Given the description of an element on the screen output the (x, y) to click on. 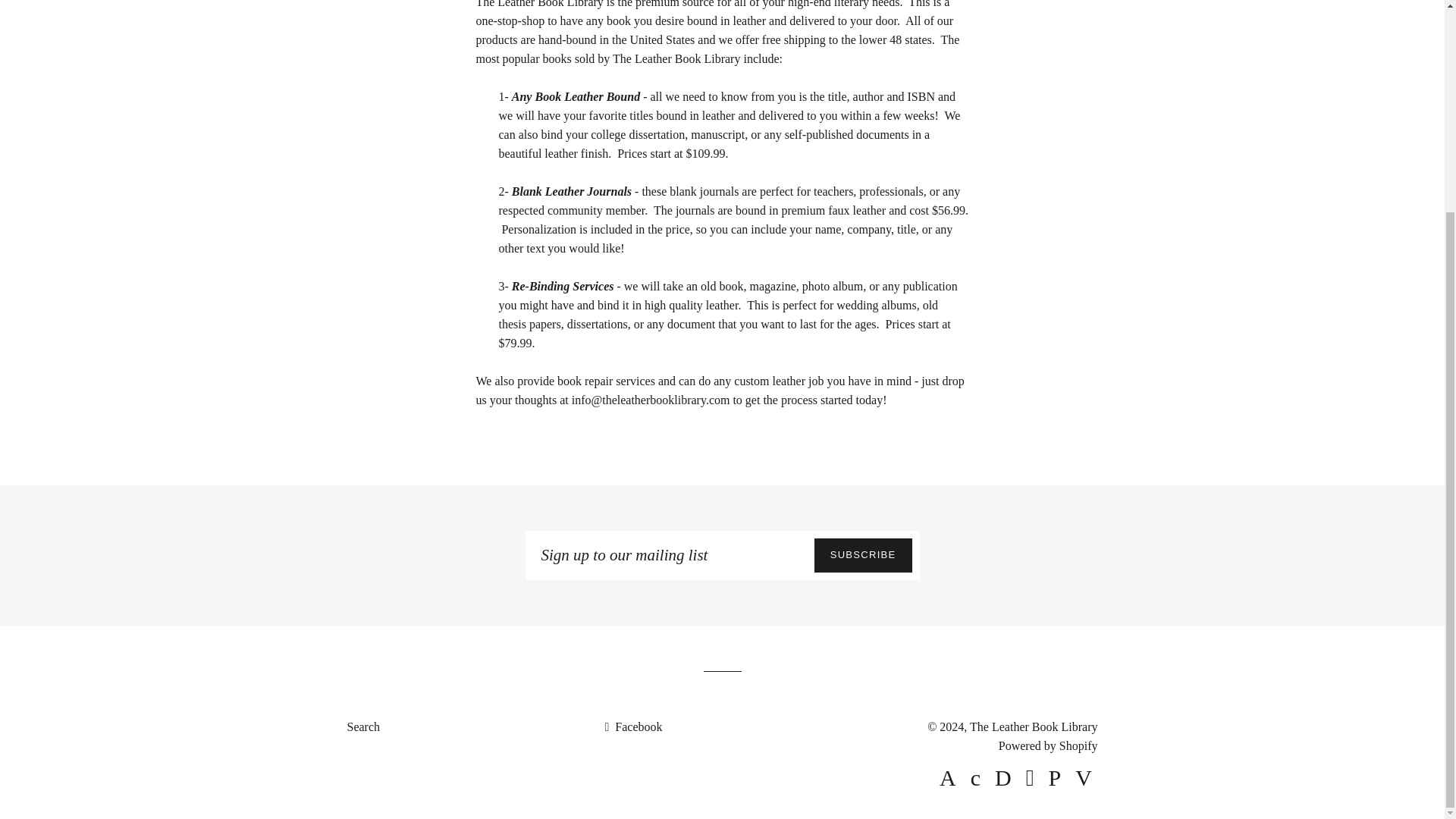
The Leather Book Library (1033, 726)
Search (363, 726)
The Leather Book Library on Facebook (633, 726)
Facebook (633, 726)
Powered by Shopify (1047, 745)
SUBSCRIBE (862, 555)
